Given the description of an element on the screen output the (x, y) to click on. 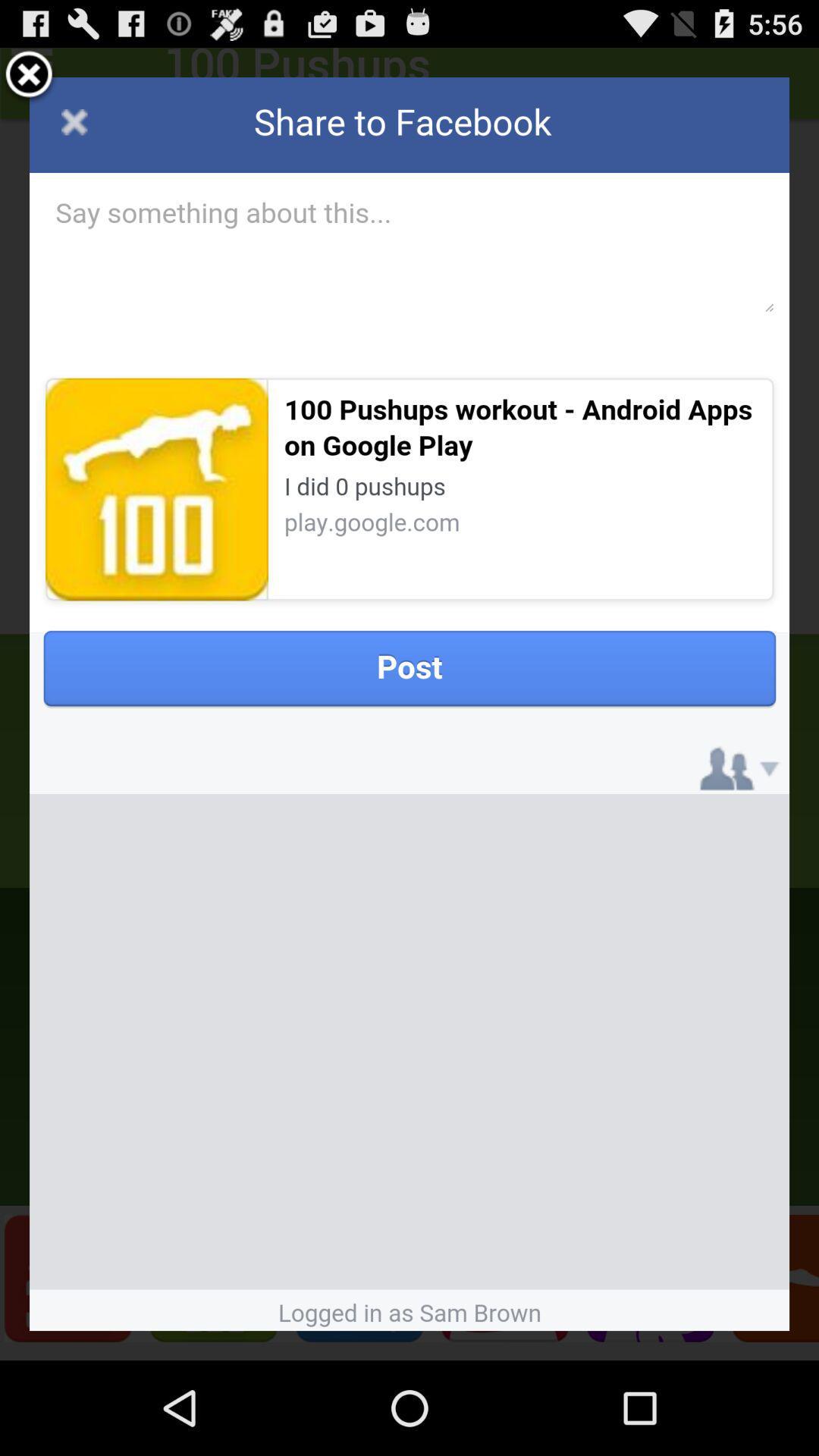
close the page (29, 76)
